Given the description of an element on the screen output the (x, y) to click on. 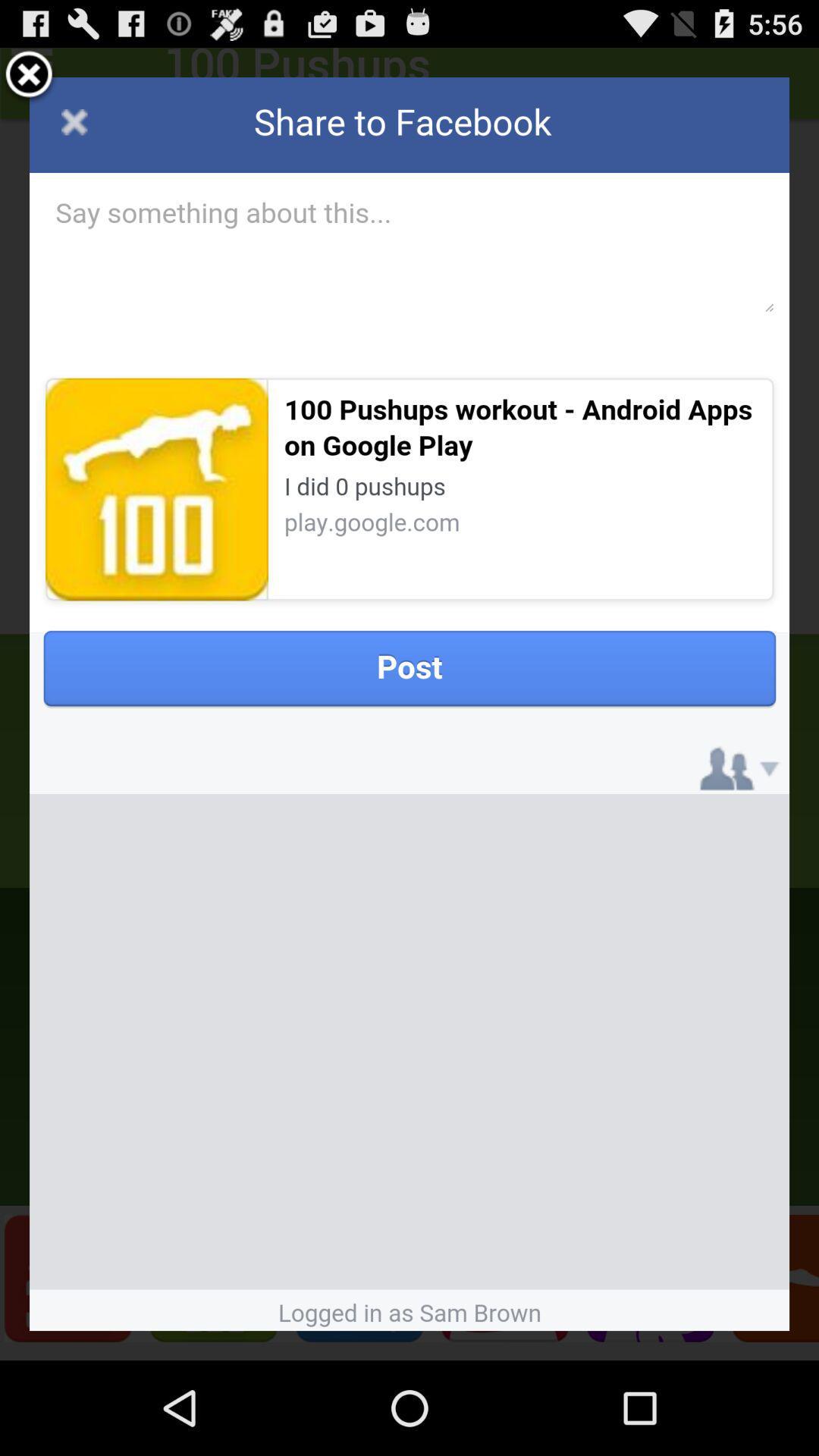
close the page (29, 76)
